Given the description of an element on the screen output the (x, y) to click on. 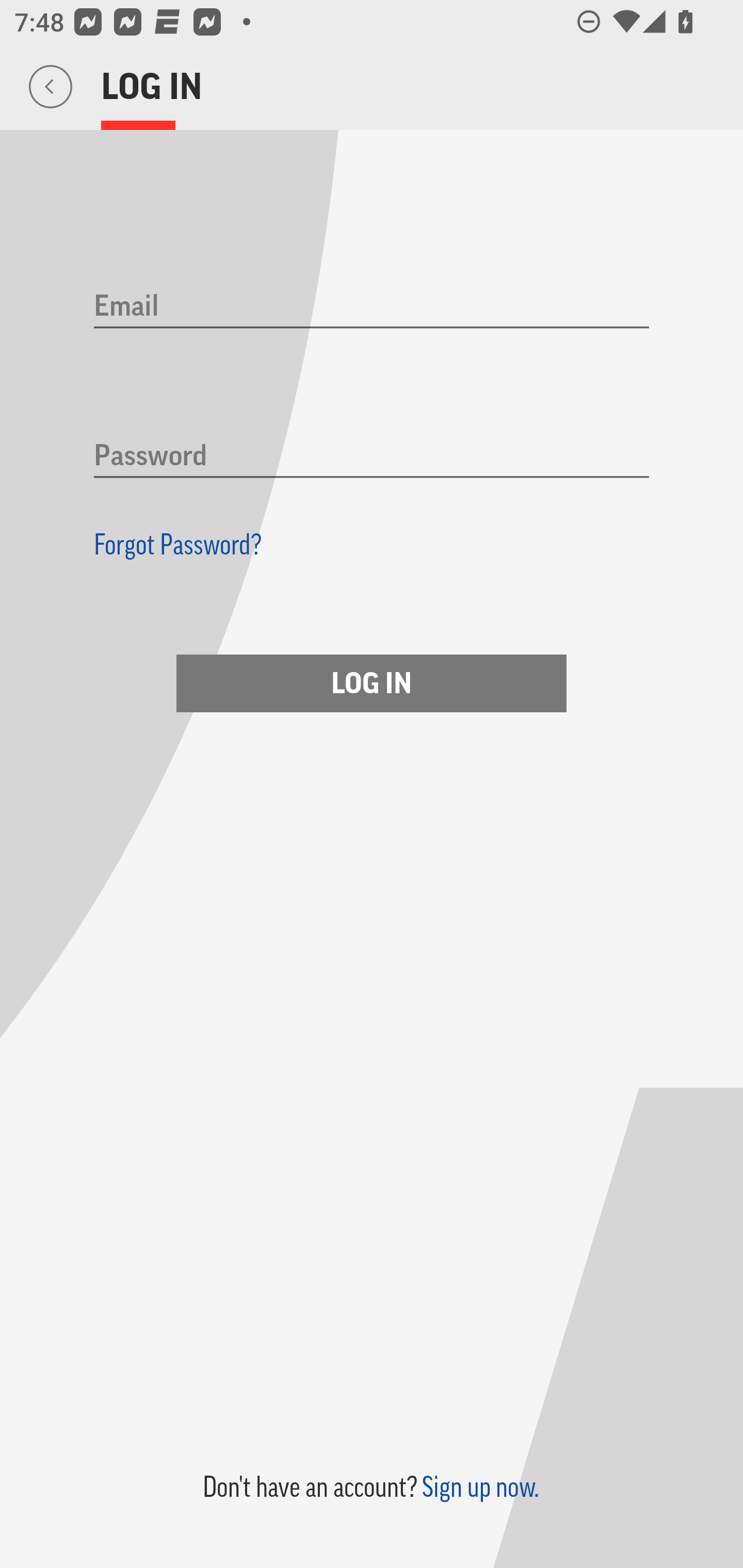
Email (371, 306)
Password (371, 456)
Forgot Password? (177, 543)
LOG IN (371, 682)
Don't have an account? Sign up now. (370, 1485)
